Given the description of an element on the screen output the (x, y) to click on. 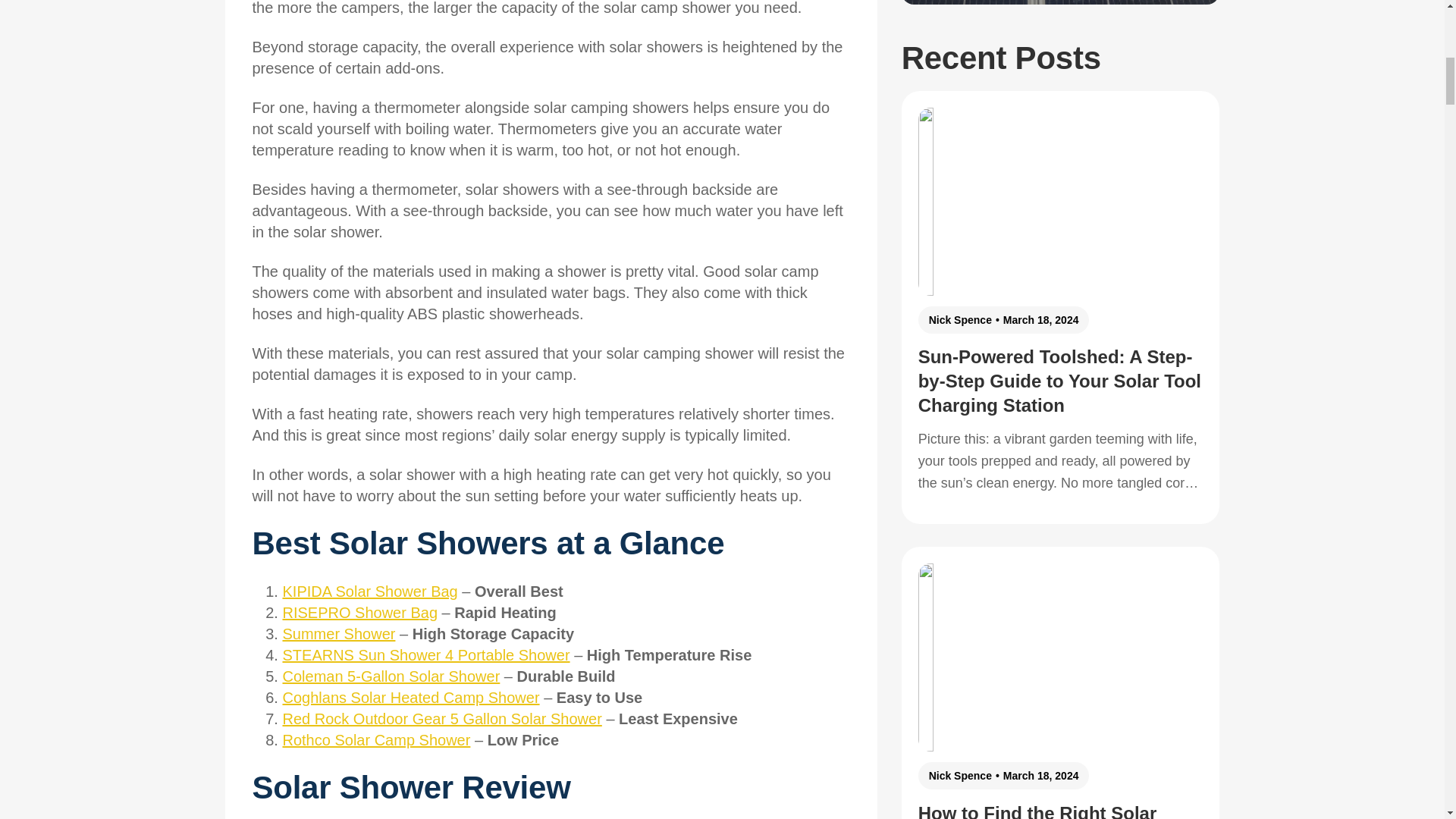
RISEPRO Shower Bag (360, 612)
Red Rock Outdoor Gear 5 Gallon Solar Shower (441, 718)
Coleman 5-Gallon Solar Shower (390, 676)
STEARNS Sun Shower 4 Portable Shower (425, 655)
KIPIDA Solar Shower Bag (369, 591)
Summer Shower (338, 633)
Coghlans Solar Heated Camp Shower (410, 697)
Rothco Solar Camp Shower (376, 740)
